Given the description of an element on the screen output the (x, y) to click on. 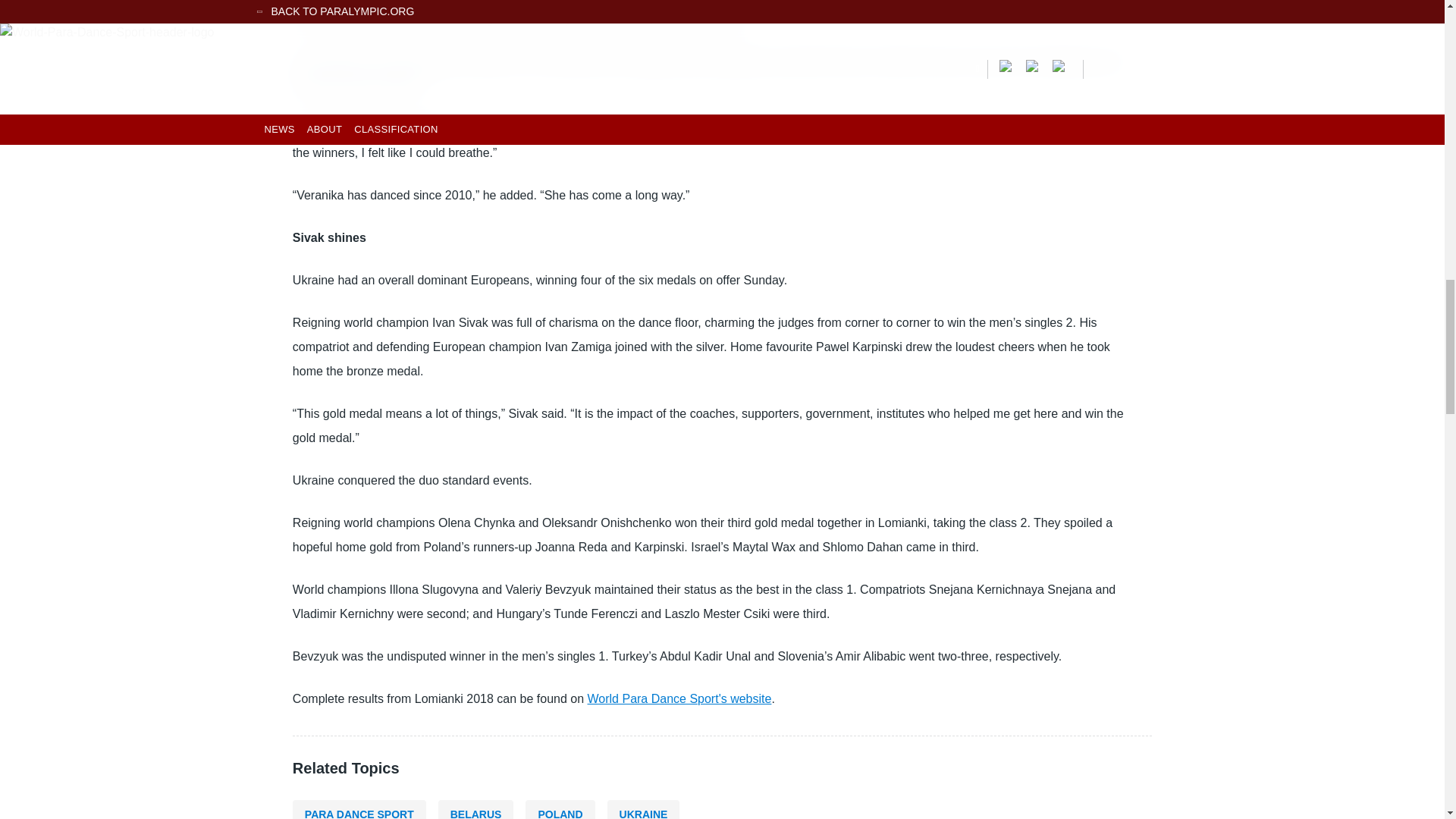
BELARUS (475, 809)
POLAND (559, 809)
World Para Dance Sport's website (679, 698)
UKRAINE (643, 809)
PARA DANCE SPORT (359, 809)
